Given the description of an element on the screen output the (x, y) to click on. 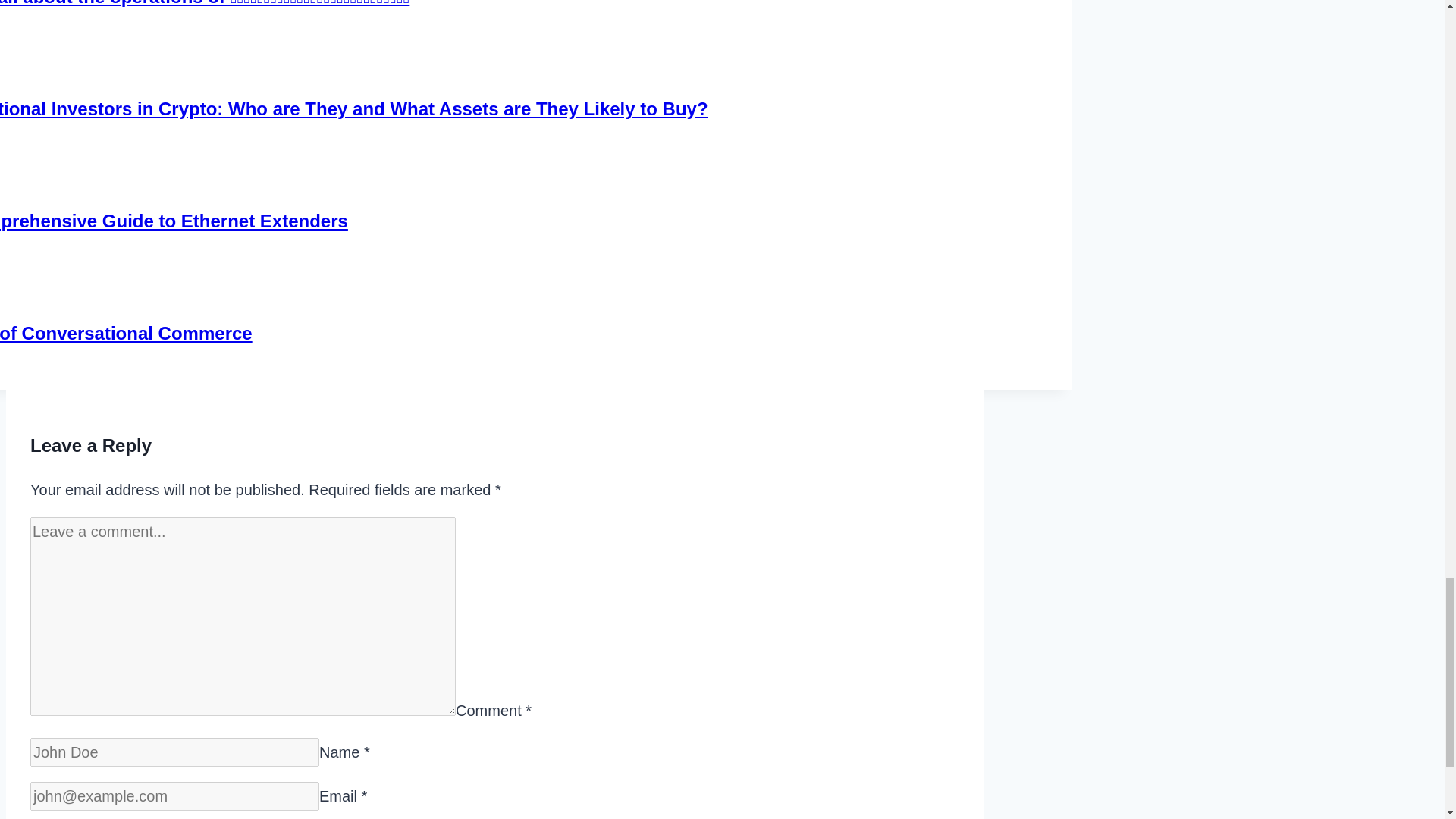
A Comprehensive Guide to Ethernet Extenders (173, 220)
Types of Conversational Commerce (125, 332)
